Given the description of an element on the screen output the (x, y) to click on. 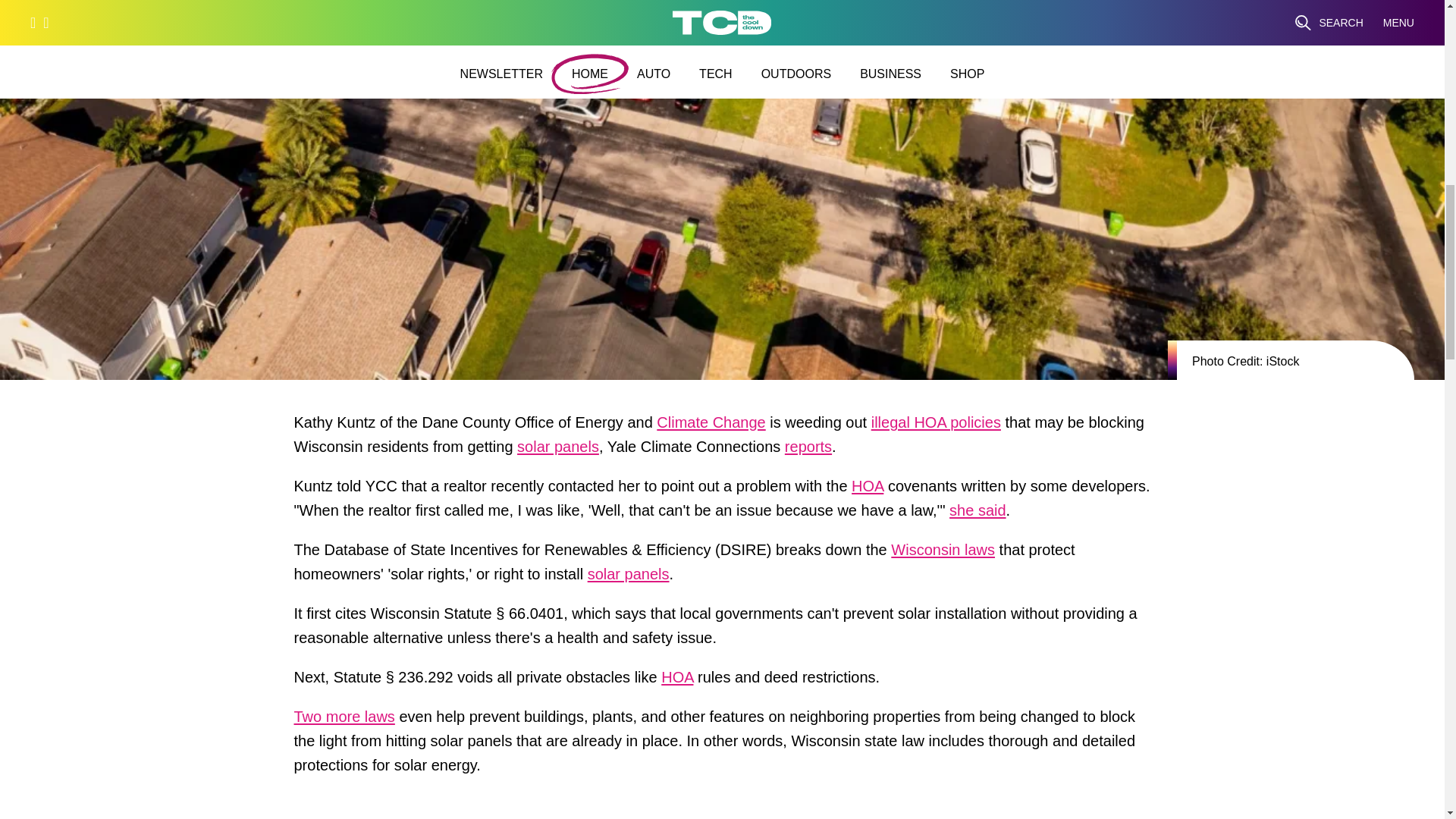
Climate Change (710, 426)
Climate change (710, 426)
illegal HOA policies (935, 426)
reports (807, 450)
solar panels (557, 450)
Fight Your HOA (867, 489)
she said (977, 514)
HOA (867, 489)
Solar Panels (557, 450)
Fight Your HOA (677, 680)
